Given the description of an element on the screen output the (x, y) to click on. 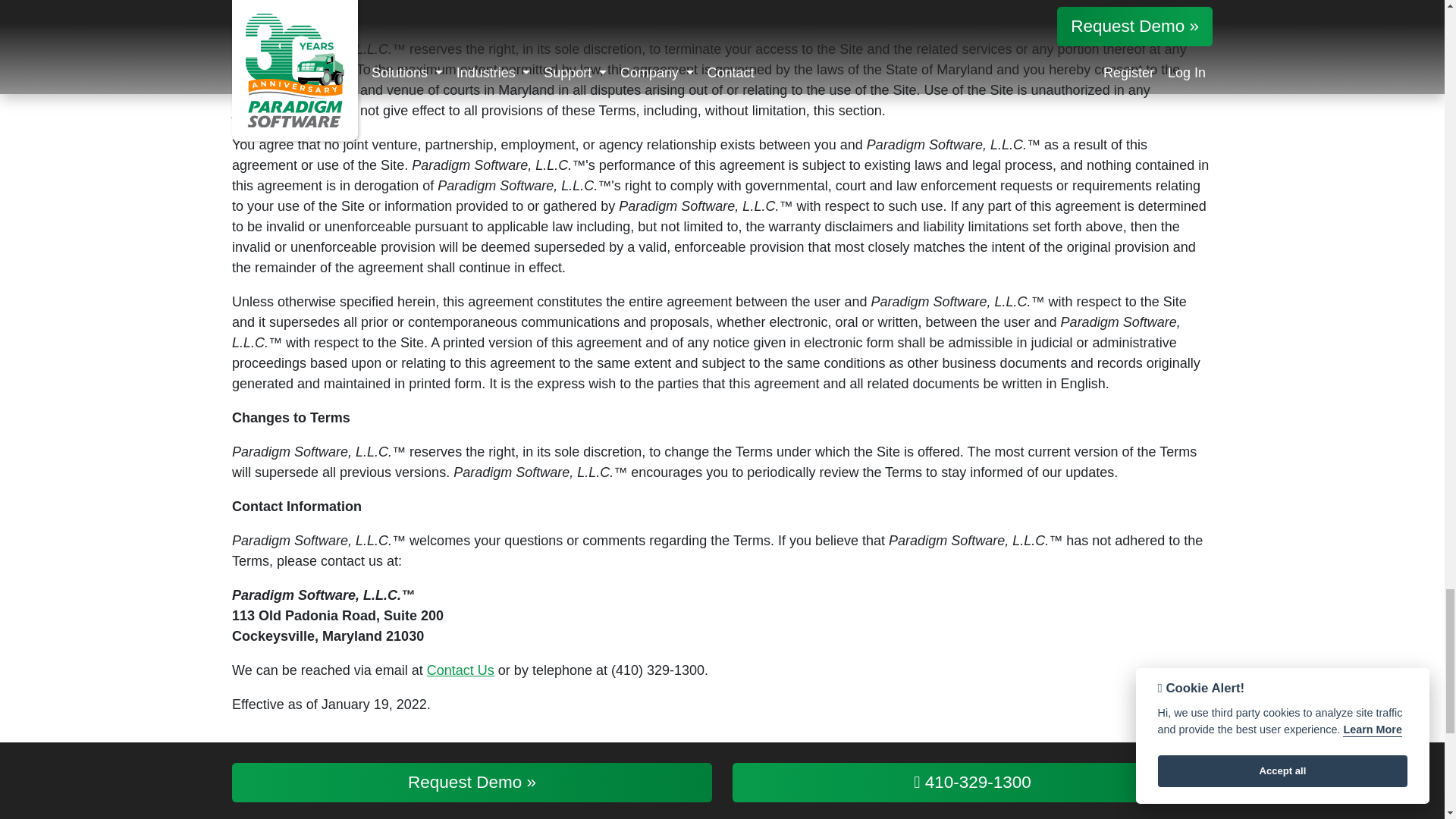
Contact Us (460, 670)
